Given the description of an element on the screen output the (x, y) to click on. 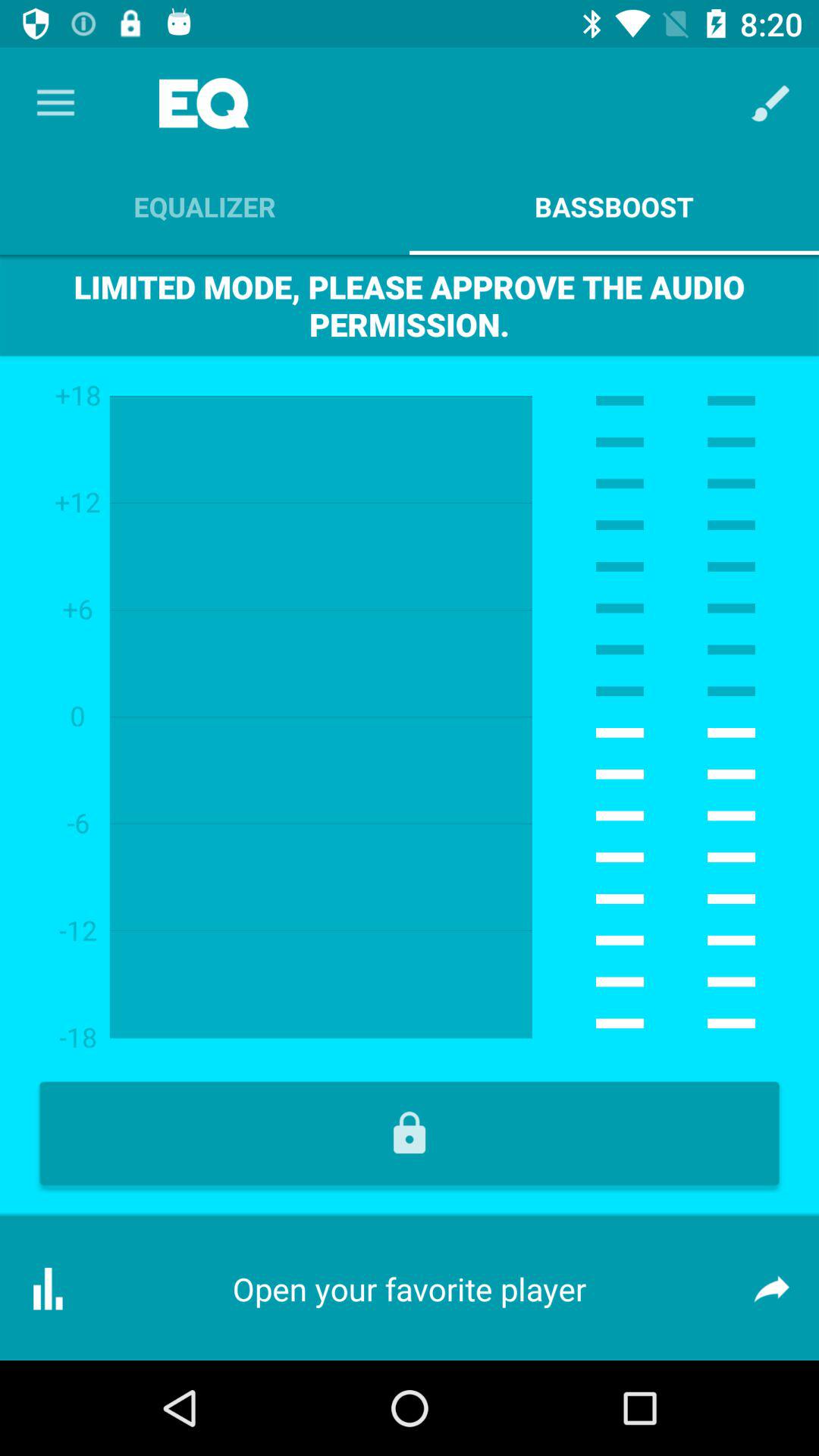
swipe until equalizer (204, 206)
